Given the description of an element on the screen output the (x, y) to click on. 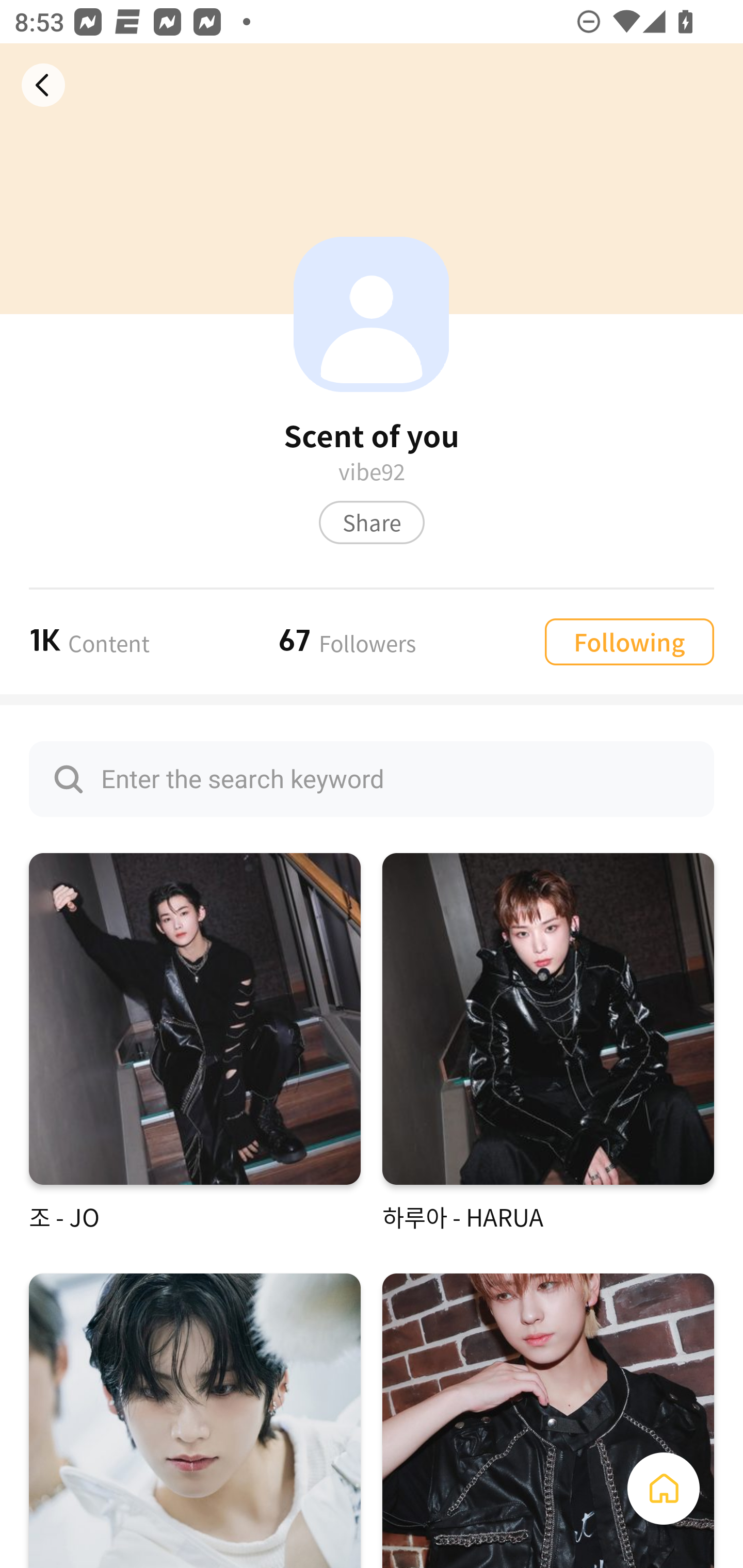
Share (371, 522)
Following (629, 640)
Enter the search keyword (371, 778)
조  -  JO (194, 1043)
하루아  -  HARUA (548, 1043)
